Given the description of an element on the screen output the (x, y) to click on. 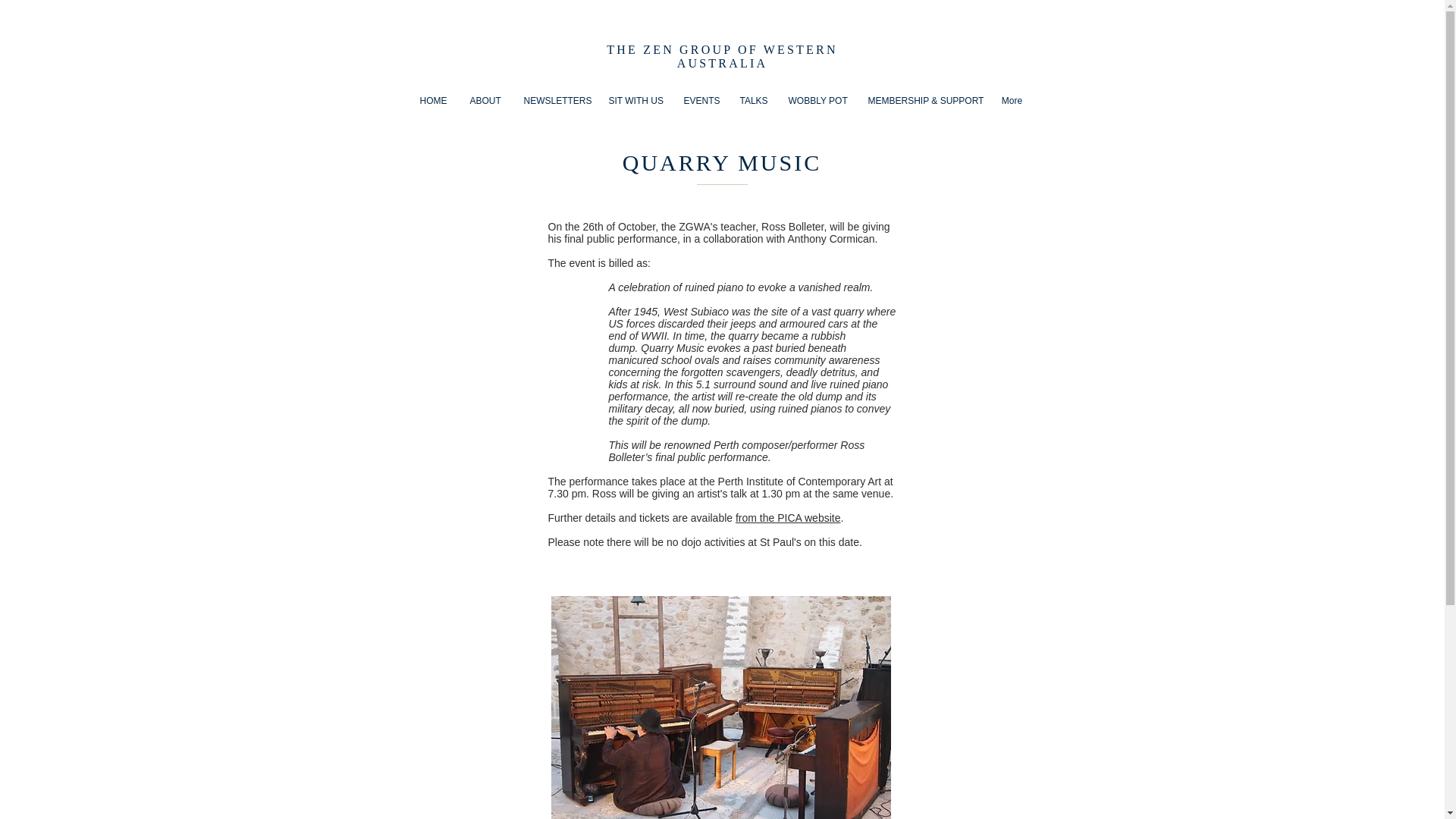
WOBBLY POT (816, 100)
NEWSLETTERS (554, 100)
HOME (432, 100)
THE ZEN GROUP OF WESTERN AUSTRALIA (722, 56)
from the PICA website (788, 517)
EVENTS (699, 100)
SIT WITH US (634, 100)
